Given the description of an element on the screen output the (x, y) to click on. 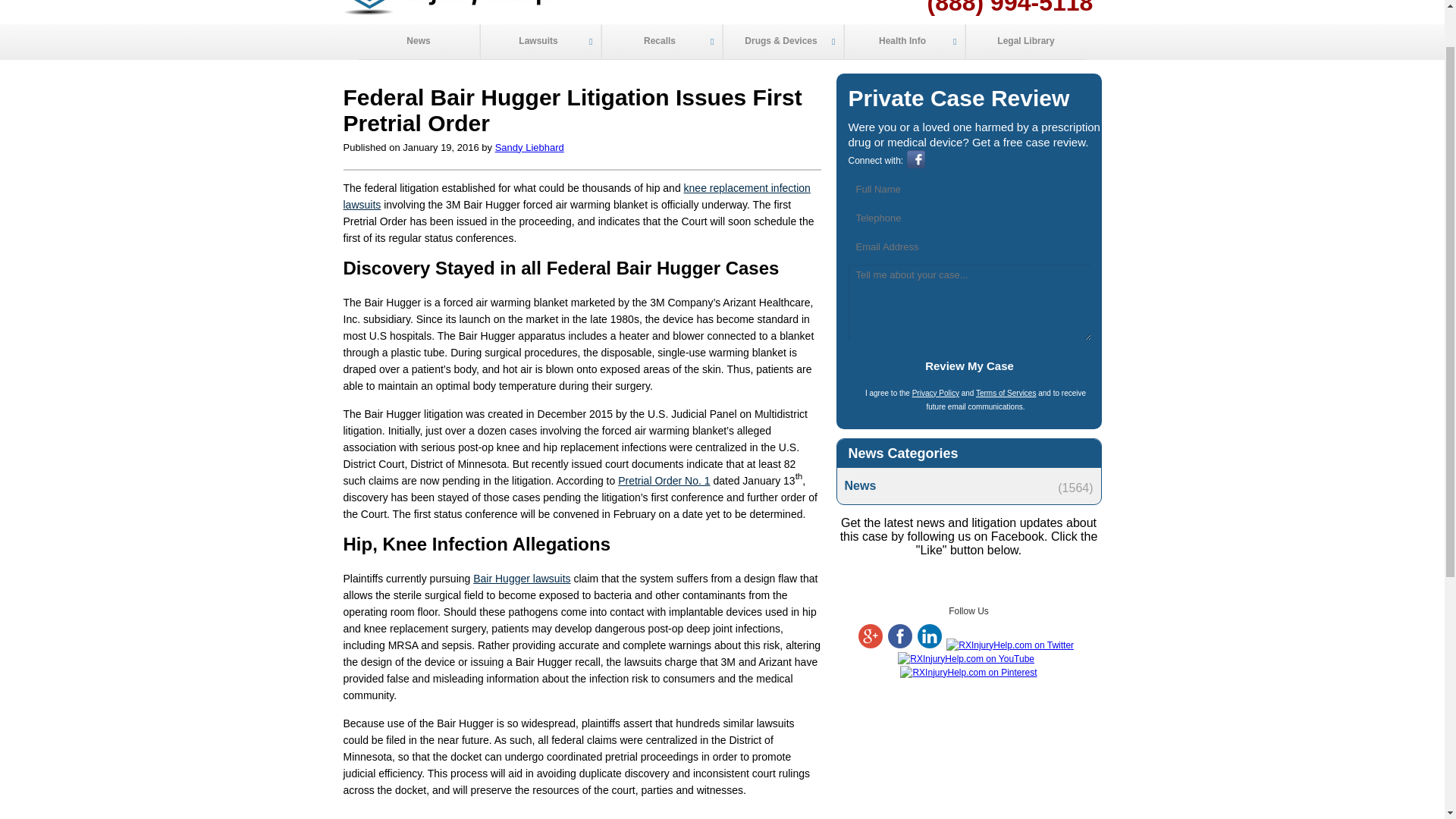
Review My Case (968, 366)
knee replacement infection lawsuits (575, 195)
Connect with Facebook (915, 164)
Legal Library (1024, 41)
RXInjuryHelp.com on Facebook (900, 644)
Recalls (660, 41)
Lawsuits (539, 41)
Pretrial Order No. 1 (663, 480)
Sandy Liebhard (529, 147)
RXInjuryHelp.com on Twitter (1010, 644)
